Given the description of an element on the screen output the (x, y) to click on. 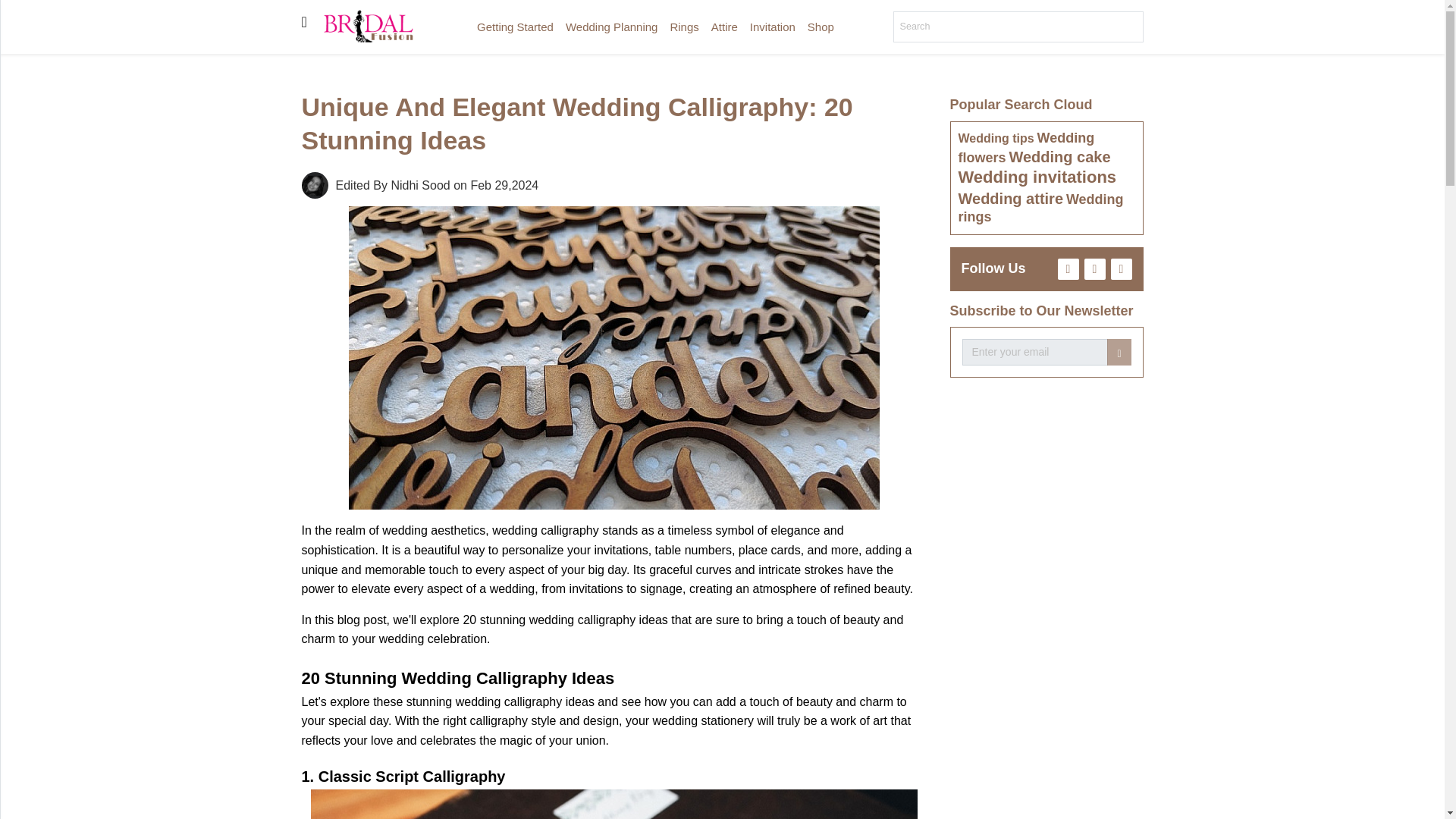
Attire (724, 26)
Wedding cake (1059, 156)
Rings (683, 26)
Relationships (15, 367)
Shop (15, 336)
Wedding rings (1041, 207)
Rings (15, 154)
Gifts (15, 306)
Shop (821, 26)
Invitation (773, 26)
Wedding flowers (1026, 147)
Wedding Planning (611, 26)
Attire (15, 184)
Wedding invitations (1037, 176)
Cake (15, 245)
